Given the description of an element on the screen output the (x, y) to click on. 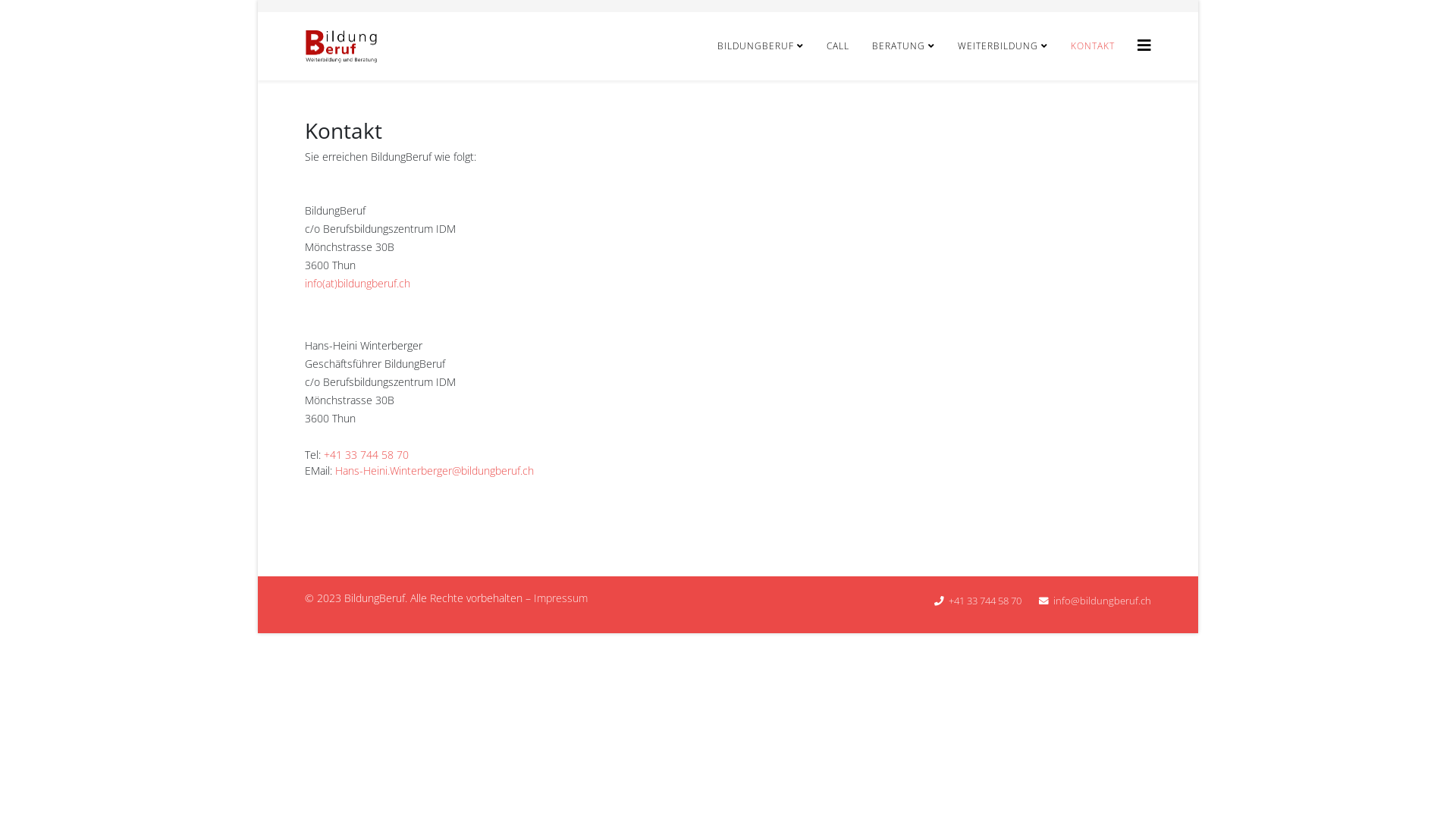
WEITERBILDUNG Element type: text (1002, 46)
Helix3 Megamenu Options Element type: hover (1144, 45)
Hans-Heini.Winterberger@bildungberuf.ch Element type: text (434, 470)
KONTAKT Element type: text (1092, 46)
+41 33 744 58 70 Element type: text (365, 454)
+41 33 744 58 70 Element type: text (984, 600)
Impressum Element type: text (560, 597)
info(at)bildungberuf.ch Element type: text (357, 283)
CALL Element type: text (837, 46)
BERATUNG Element type: text (903, 46)
BILDUNGBERUF Element type: text (760, 46)
info@bildungberuf.ch Element type: text (1102, 600)
